Given the description of an element on the screen output the (x, y) to click on. 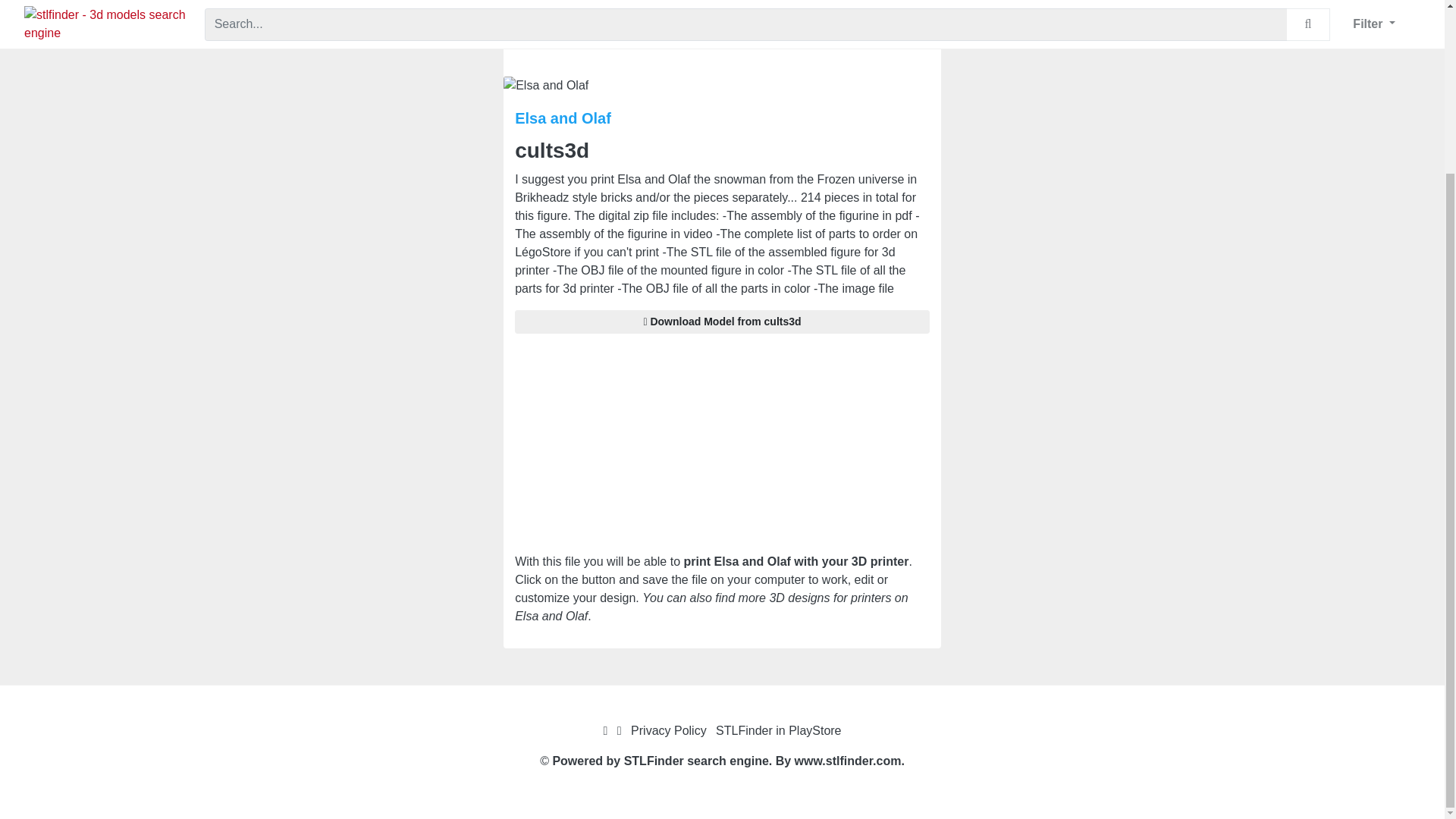
www.stlfinder.com (847, 760)
STLFinder in PlayStore (778, 730)
Download Model from cults3d (722, 321)
Privacy Policy (668, 730)
